Given the description of an element on the screen output the (x, y) to click on. 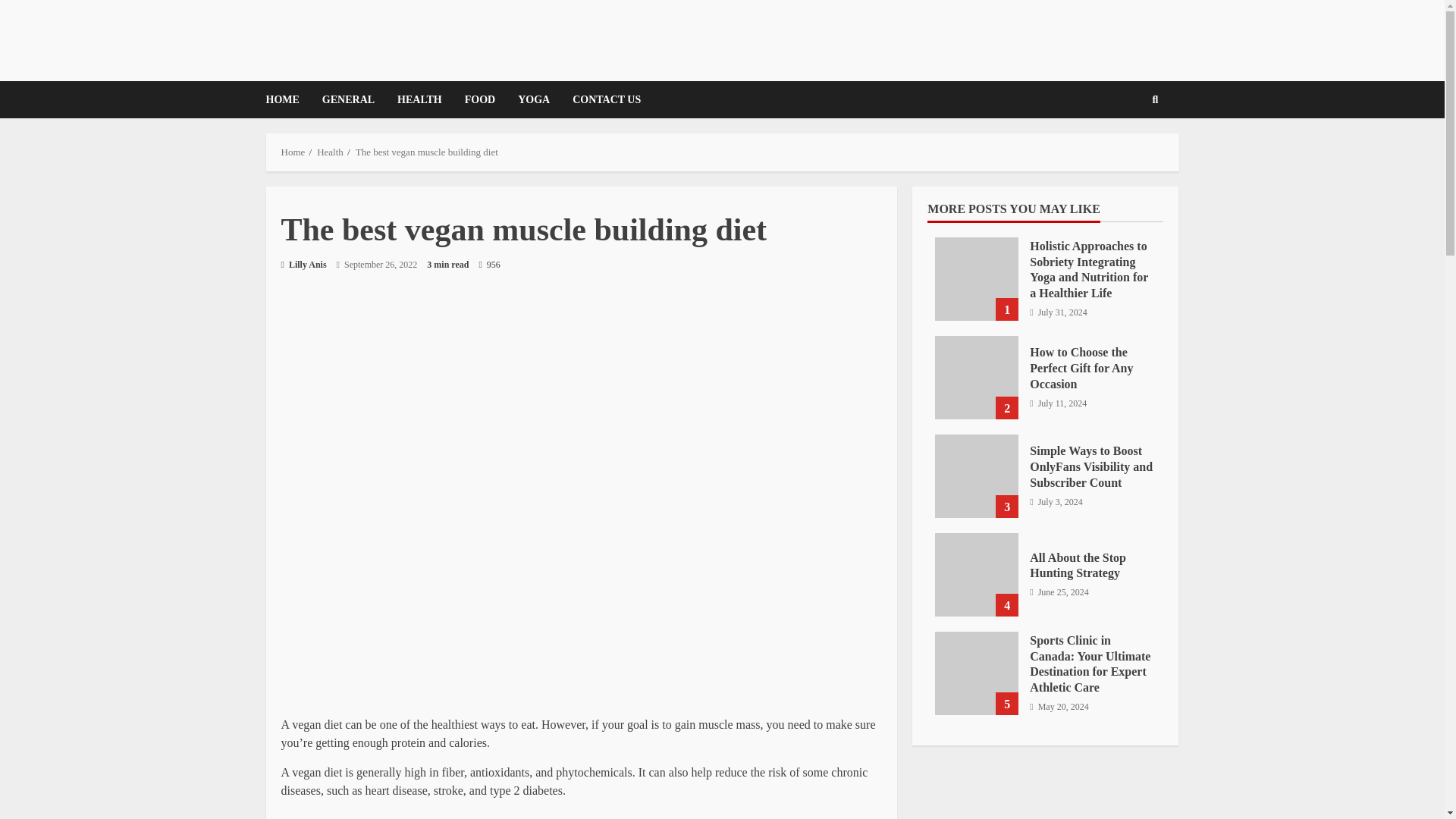
Lilly Anis (303, 264)
Home (292, 152)
956 (489, 265)
HOME (287, 99)
Health (330, 152)
YOGA (533, 99)
CONTACT US (600, 99)
The best vegan muscle building diet (426, 152)
HEALTH (418, 99)
GENERAL (348, 99)
